Given the description of an element on the screen output the (x, y) to click on. 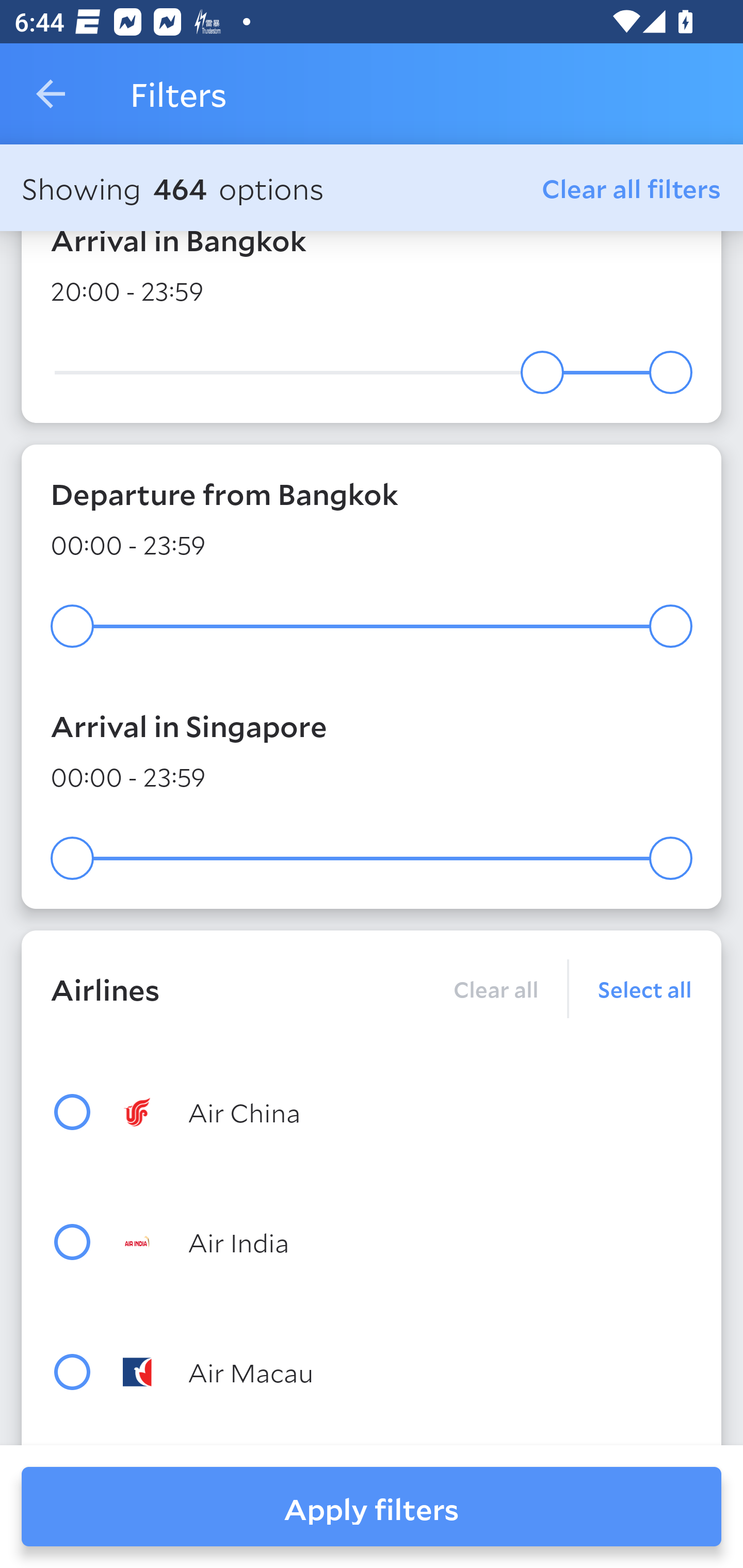
Navigate up (50, 93)
Clear all filters (631, 187)
Clear all (495, 988)
Select all (630, 988)
Air China (407, 1111)
Air India (407, 1241)
Air Macau (407, 1371)
Apply filters (371, 1506)
